Given the description of an element on the screen output the (x, y) to click on. 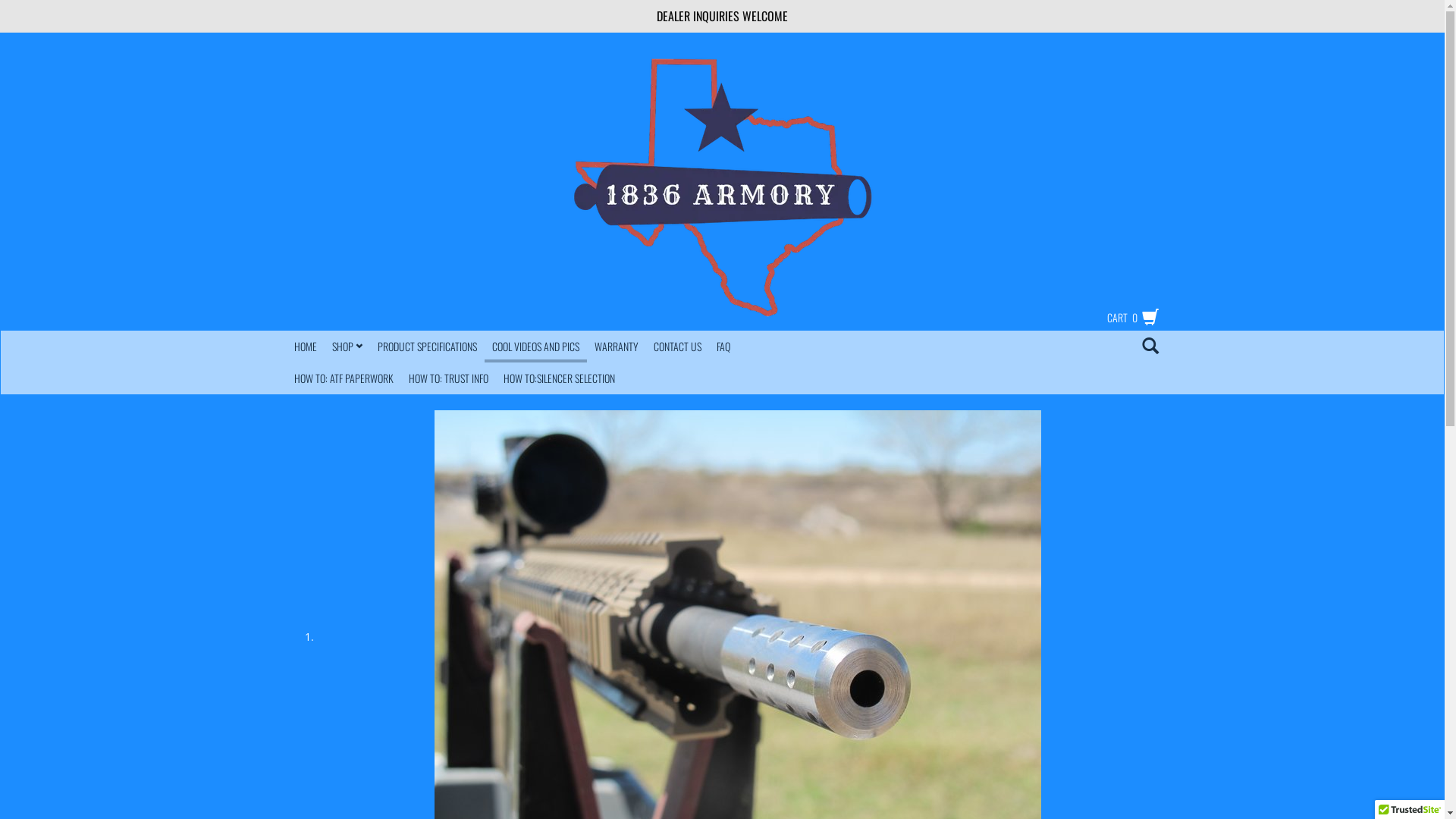
FAQ Element type: text (722, 346)
CART  0   Element type: text (1125, 316)
HOW TO: TRUST INFO Element type: text (447, 378)
HOME Element type: text (305, 346)
PRODUCT SPECIFICATIONS Element type: text (427, 346)
HOW TO:SILENCER SELECTION Element type: text (558, 378)
HOW TO: ATF PAPERWORK Element type: text (343, 378)
CONTACT US Element type: text (677, 346)
WARRANTY Element type: text (616, 346)
COOL VIDEOS AND PICS Element type: text (534, 344)
SHOP Element type: text (347, 346)
